Given the description of an element on the screen output the (x, y) to click on. 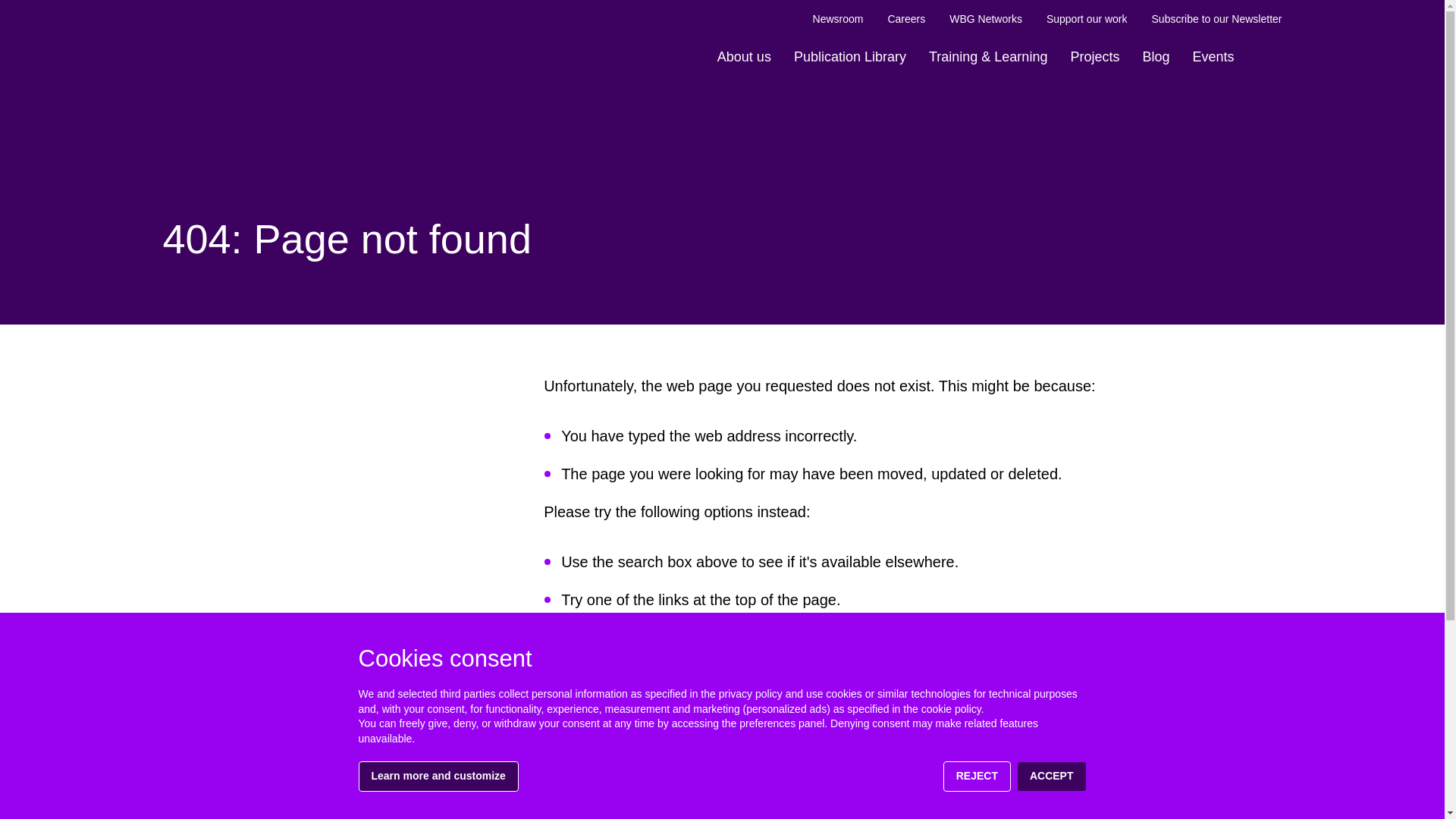
Publication Library (850, 56)
WBG Networks (985, 19)
Go to homepage (230, 33)
About us (743, 56)
homepage (702, 638)
Projects (1093, 56)
Newsroom (837, 19)
SUBSCRIBE (1235, 809)
Subscribe to our Newsletter (1216, 19)
Careers (905, 19)
